Given the description of an element on the screen output the (x, y) to click on. 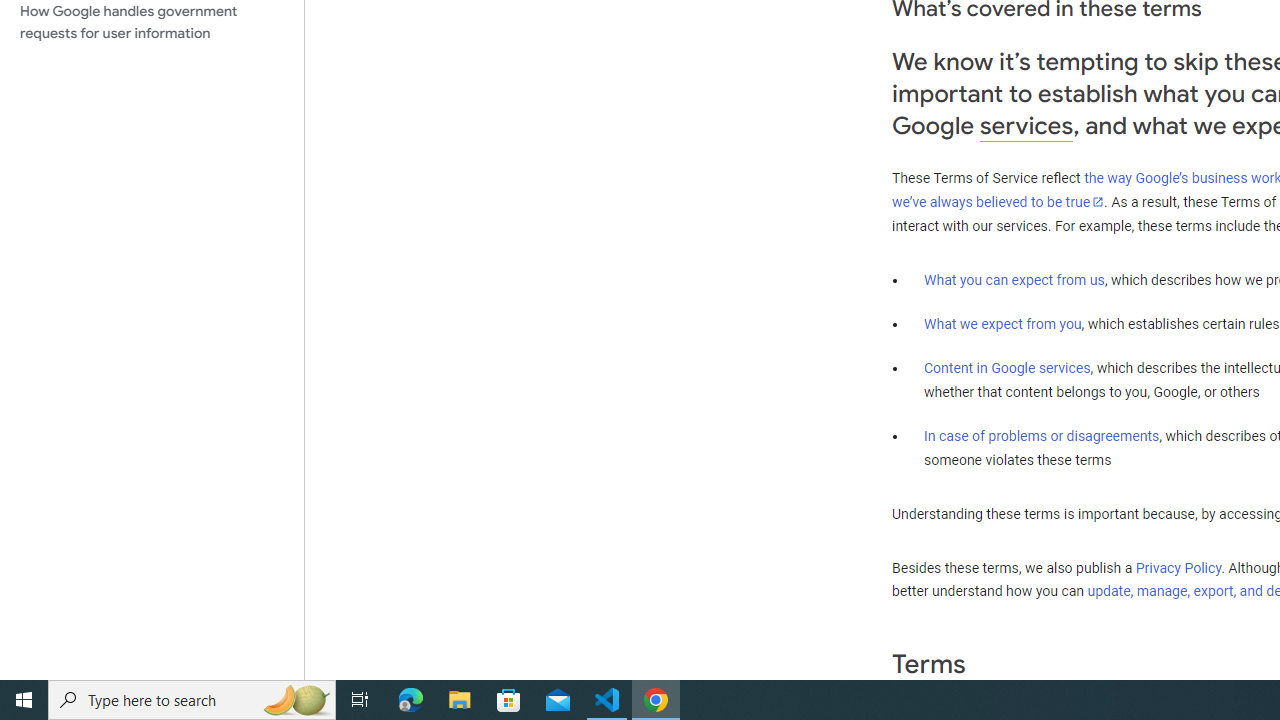
services (1026, 125)
What we expect from you (1002, 323)
In case of problems or disagreements (1041, 435)
What you can expect from us (1014, 279)
Content in Google services (1007, 368)
Privacy Policy (1178, 567)
